Given the description of an element on the screen output the (x, y) to click on. 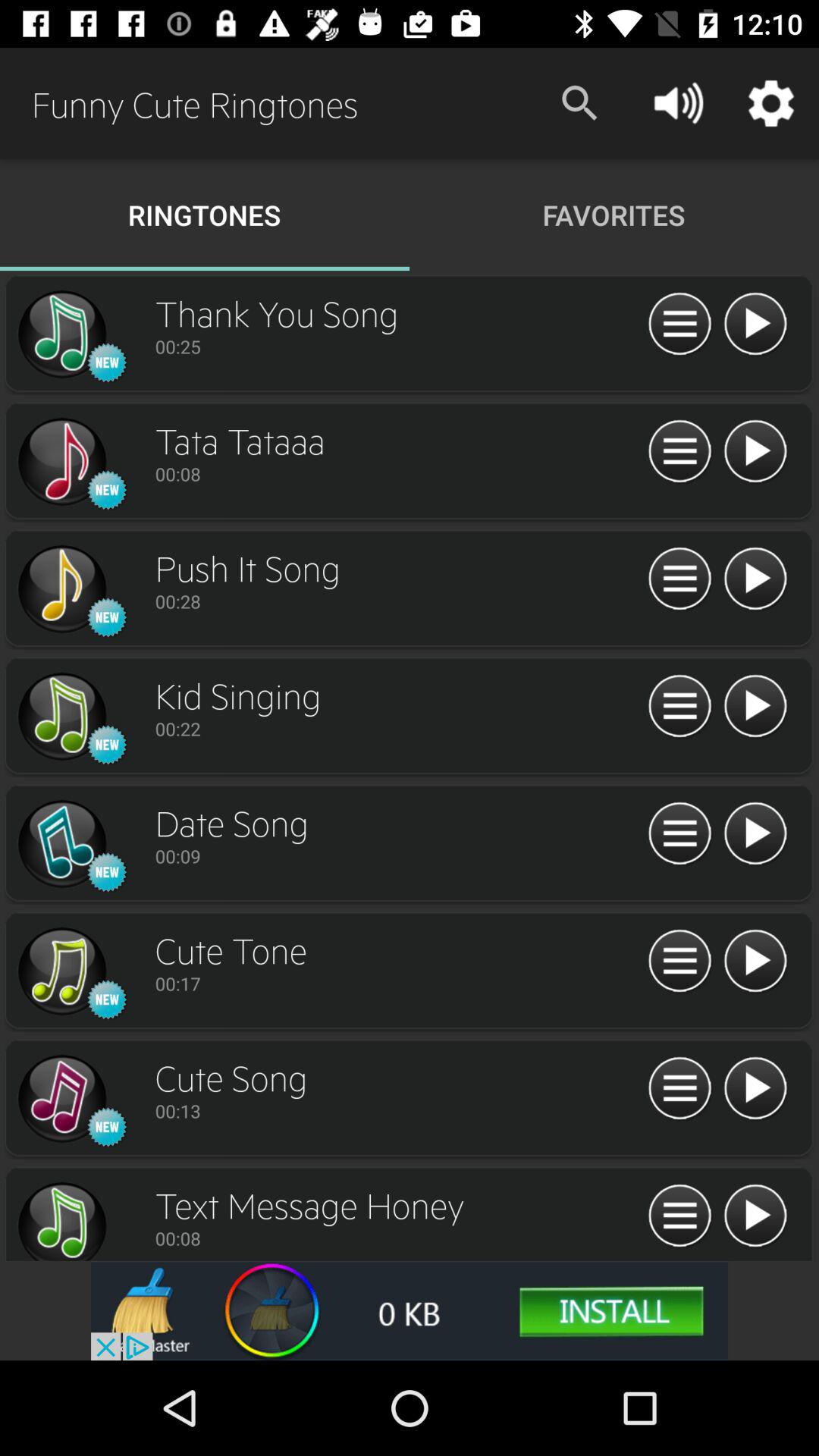
play a ringtone (755, 324)
